Given the description of an element on the screen output the (x, y) to click on. 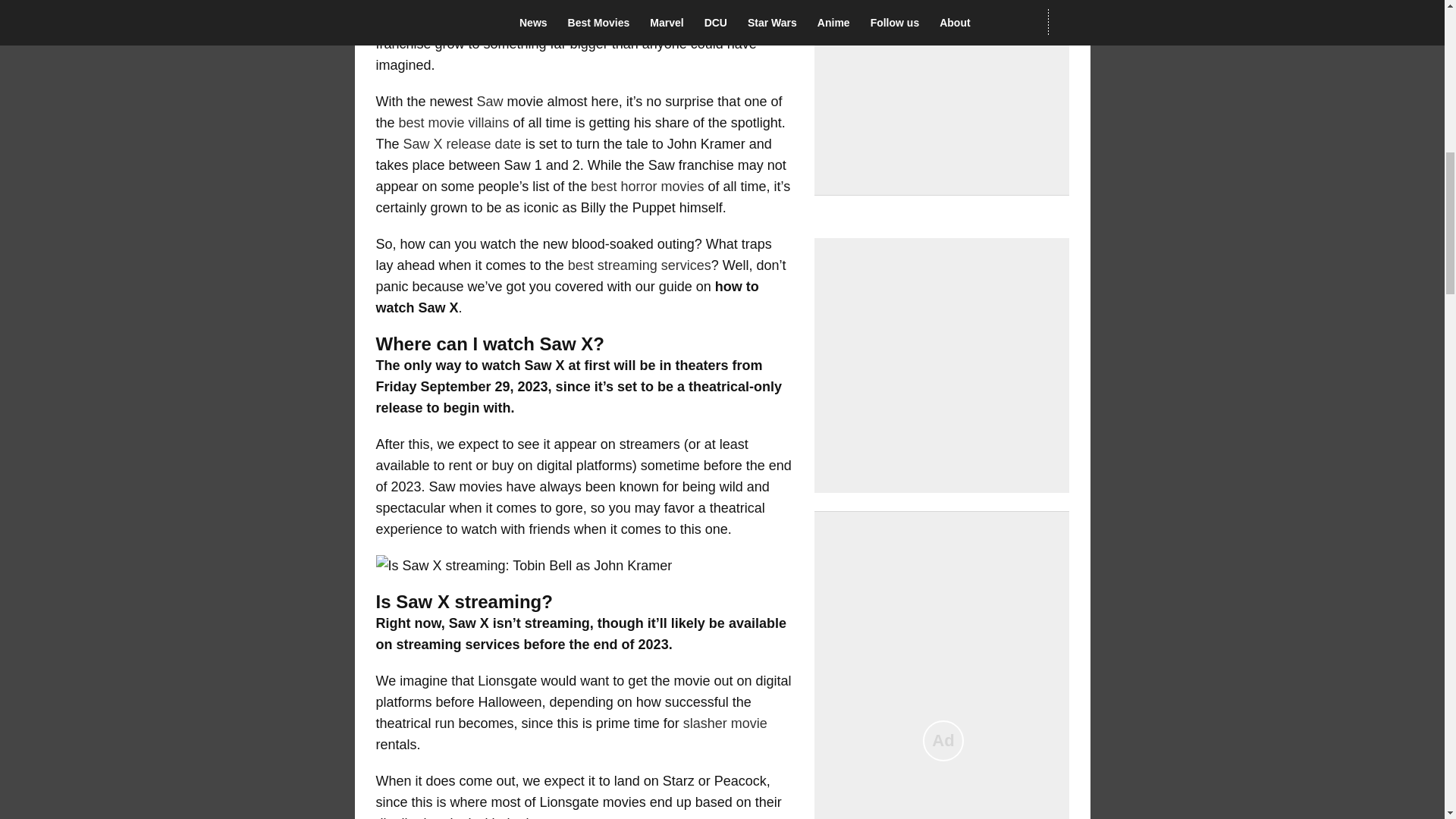
best movie villains (453, 122)
Saw (490, 101)
best streaming services (639, 264)
slasher movie (724, 723)
best horror movies (647, 186)
Saw X release date (462, 143)
